Given the description of an element on the screen output the (x, y) to click on. 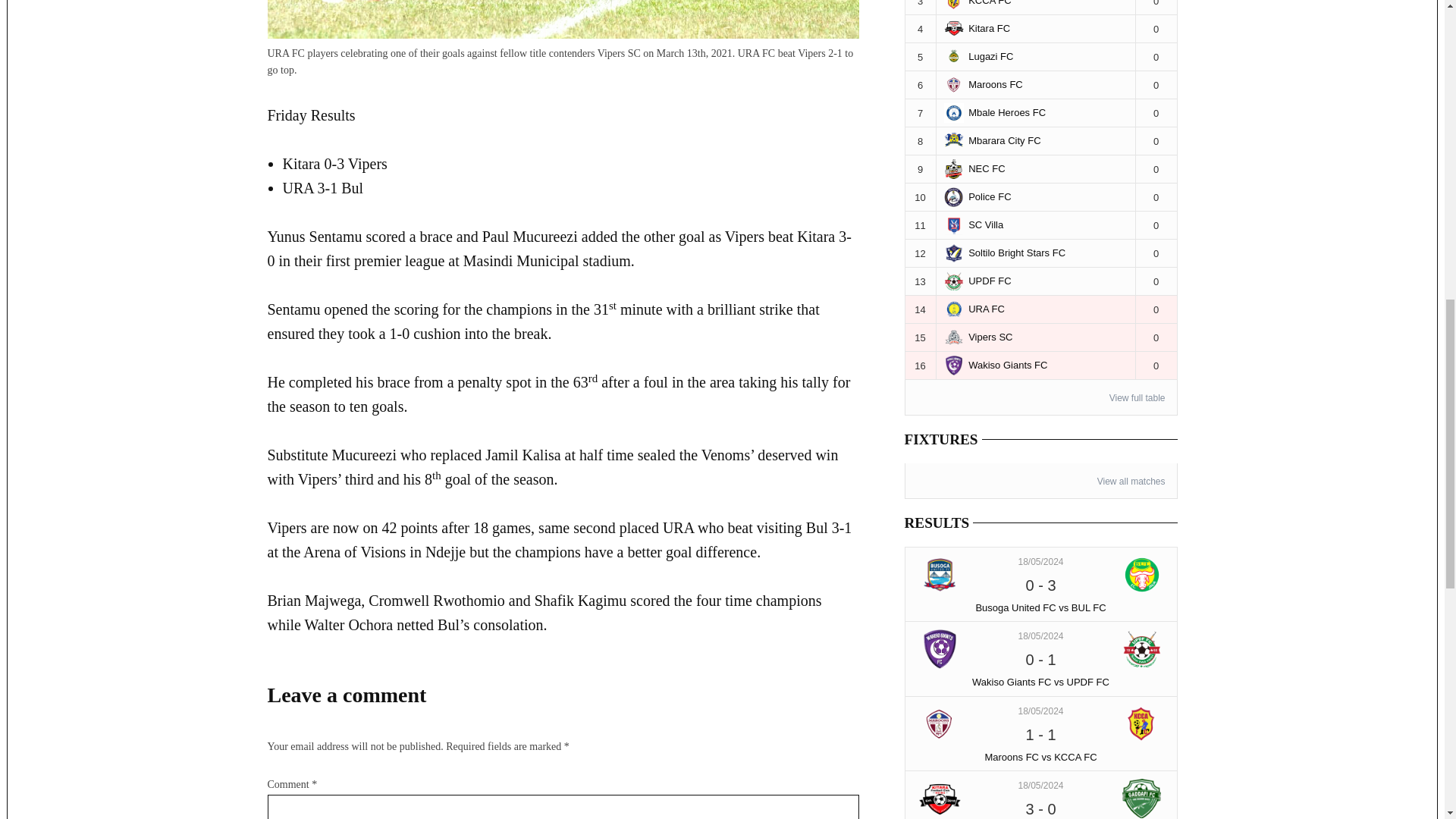
BUL FC (1142, 574)
Kitara FC (940, 798)
Gaddafi FC (1142, 798)
UPDF FC (1142, 649)
Maroons FC (940, 723)
KCCA FC (1142, 723)
Wakiso Giants FC (940, 649)
Busoga United FC (940, 574)
